Given the description of an element on the screen output the (x, y) to click on. 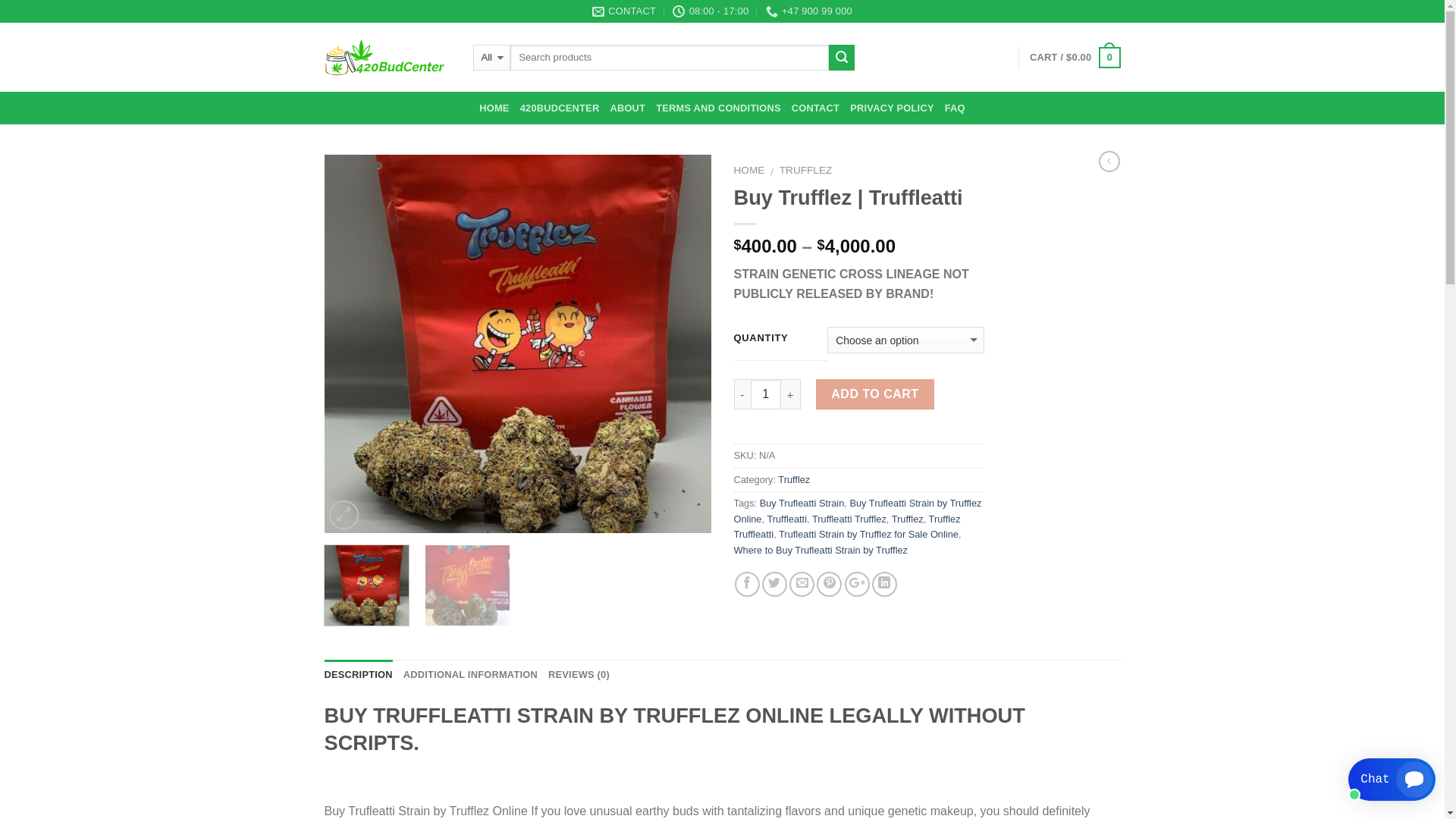
Buy Trufleatti Strain by Trufflez Online Element type: text (858, 510)
Truffleatti Trufflez Element type: text (849, 518)
Truffleatti Element type: text (786, 518)
CONTACT Element type: text (623, 11)
Trufflez Element type: text (907, 518)
CONTACT Element type: text (815, 108)
420BudCenter - 420BudCenter Online Element type: hover (387, 56)
Smartsupp widget button Element type: hover (1391, 779)
Where to Buy Trufleatti Strain by Trufflez Element type: text (821, 549)
HOME Element type: text (749, 169)
TERMS AND CONDITIONS Element type: text (718, 108)
Qty Element type: hover (765, 394)
ABOUT Element type: text (627, 108)
Trufleatti Strain by Trufflez for Sale Online Element type: text (868, 533)
Buy Trufleatti Strain Element type: text (801, 502)
Trufflez Truffleatti Element type: text (847, 526)
PRIVACY POLICY Element type: text (891, 108)
DESCRIPTION Element type: text (358, 674)
truffletti Element type: hover (517, 343)
ADDITIONAL INFORMATION Element type: text (470, 674)
TRUFFLEZ Element type: text (805, 169)
FAQ Element type: text (954, 108)
CART / $0.00
0 Element type: text (1074, 57)
ADD TO CART Element type: text (874, 394)
420BUDCENTER Element type: text (559, 108)
Trufflez Element type: text (793, 479)
+47 900 99 000 Element type: text (808, 11)
08:00 - 17:00 Element type: text (710, 11)
REVIEWS (0) Element type: text (578, 674)
HOME Element type: text (493, 108)
